Given the description of an element on the screen output the (x, y) to click on. 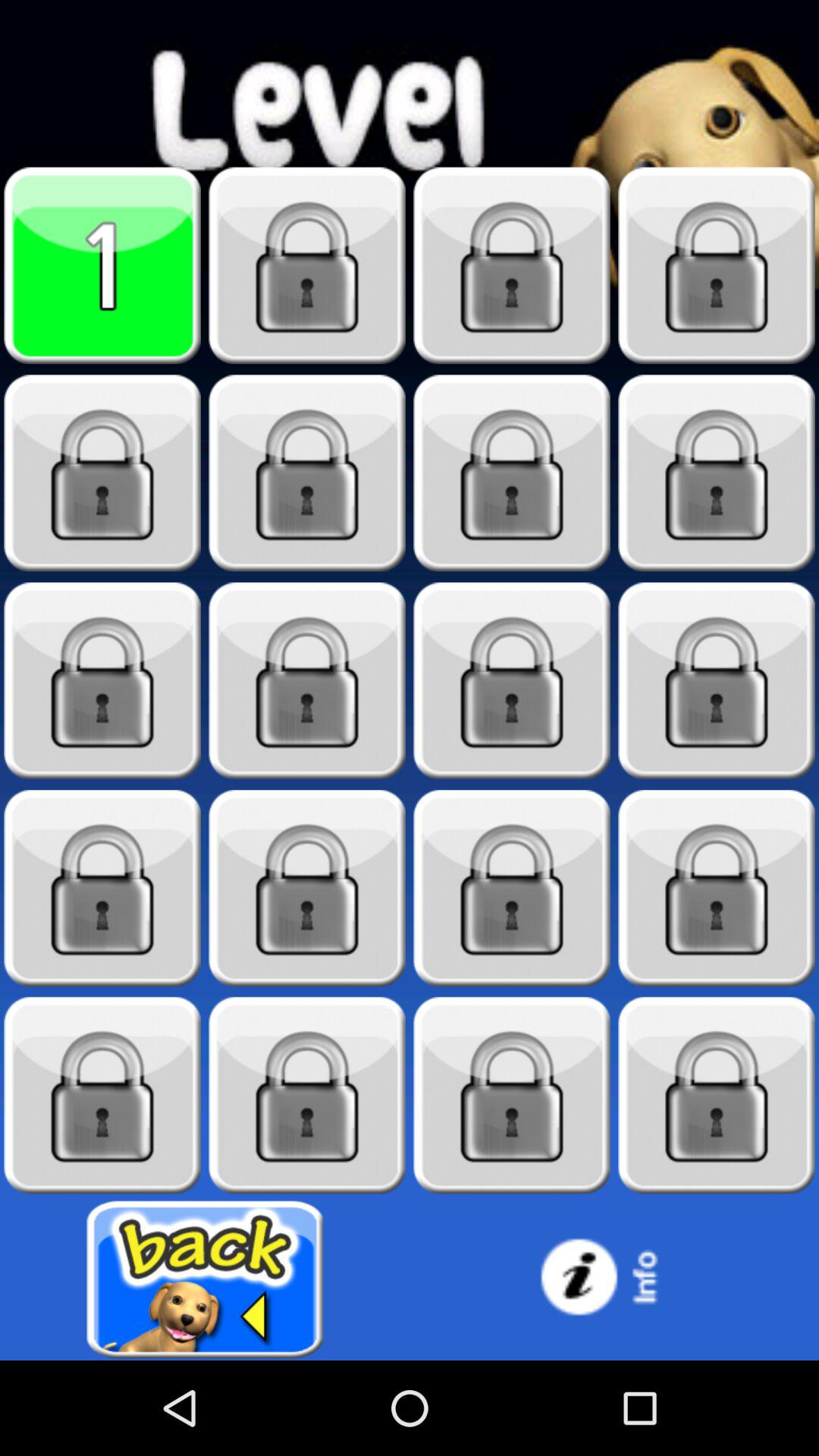
locked content (716, 680)
